Given the description of an element on the screen output the (x, y) to click on. 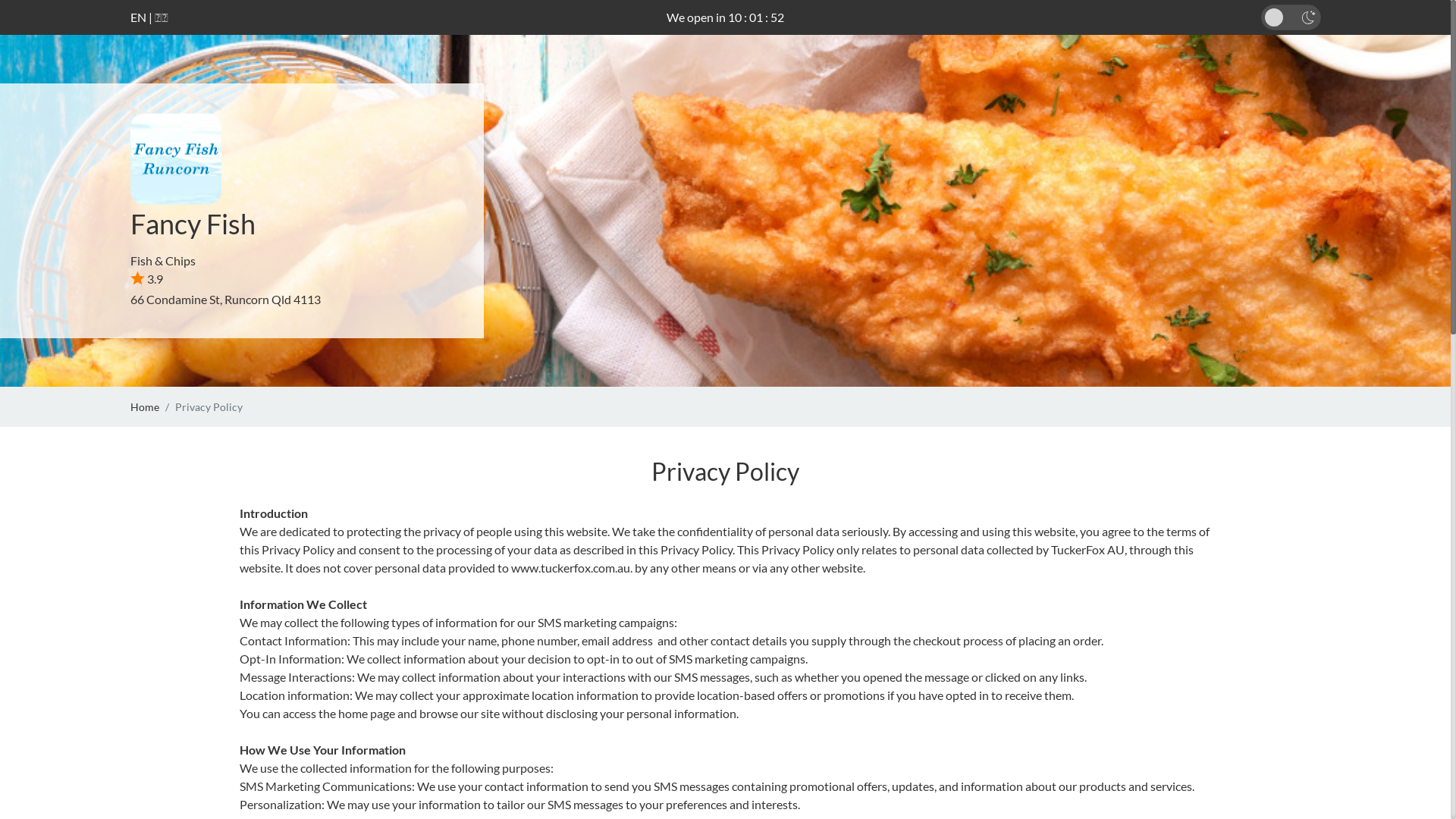
EN Element type: text (138, 16)
Fancy Fish Element type: text (192, 223)
Home Element type: text (144, 406)
3.9 Element type: text (146, 278)
